Given the description of an element on the screen output the (x, y) to click on. 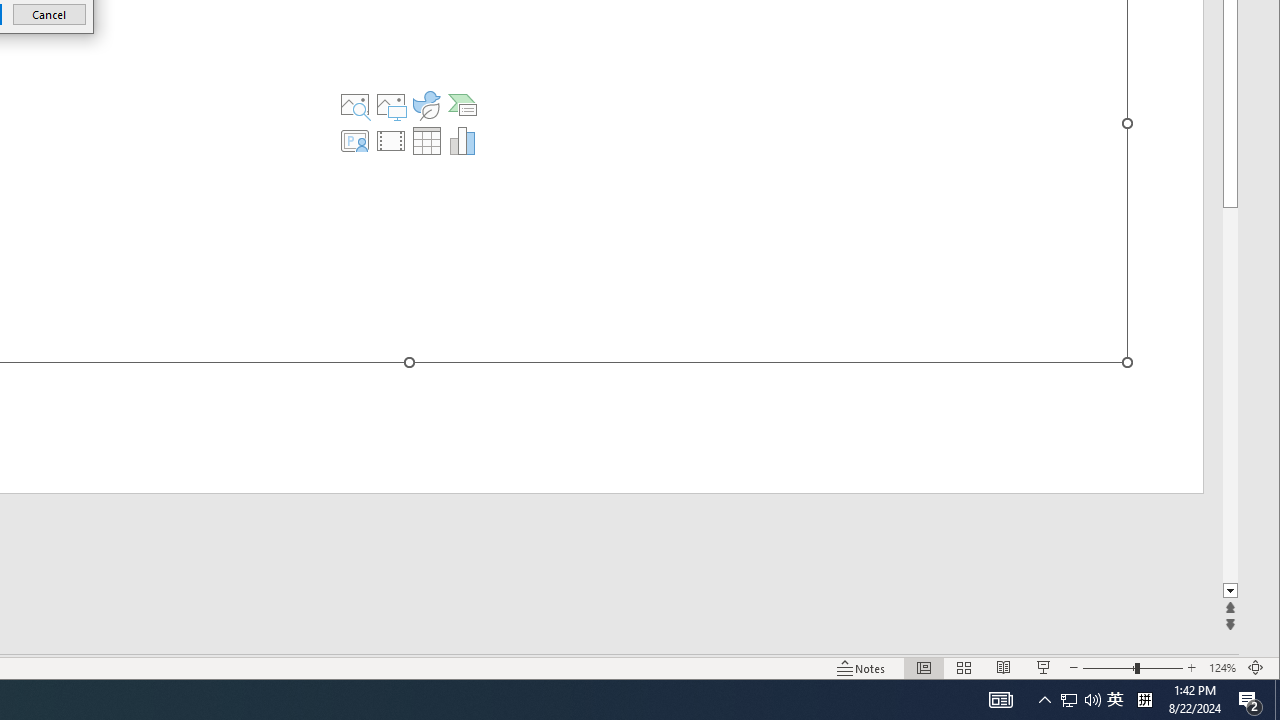
Stock Images (355, 104)
Insert Table (426, 140)
Cancel (49, 13)
Insert Video (391, 140)
Insert a SmartArt Graphic (462, 104)
Show desktop (1115, 699)
